Given the description of an element on the screen output the (x, y) to click on. 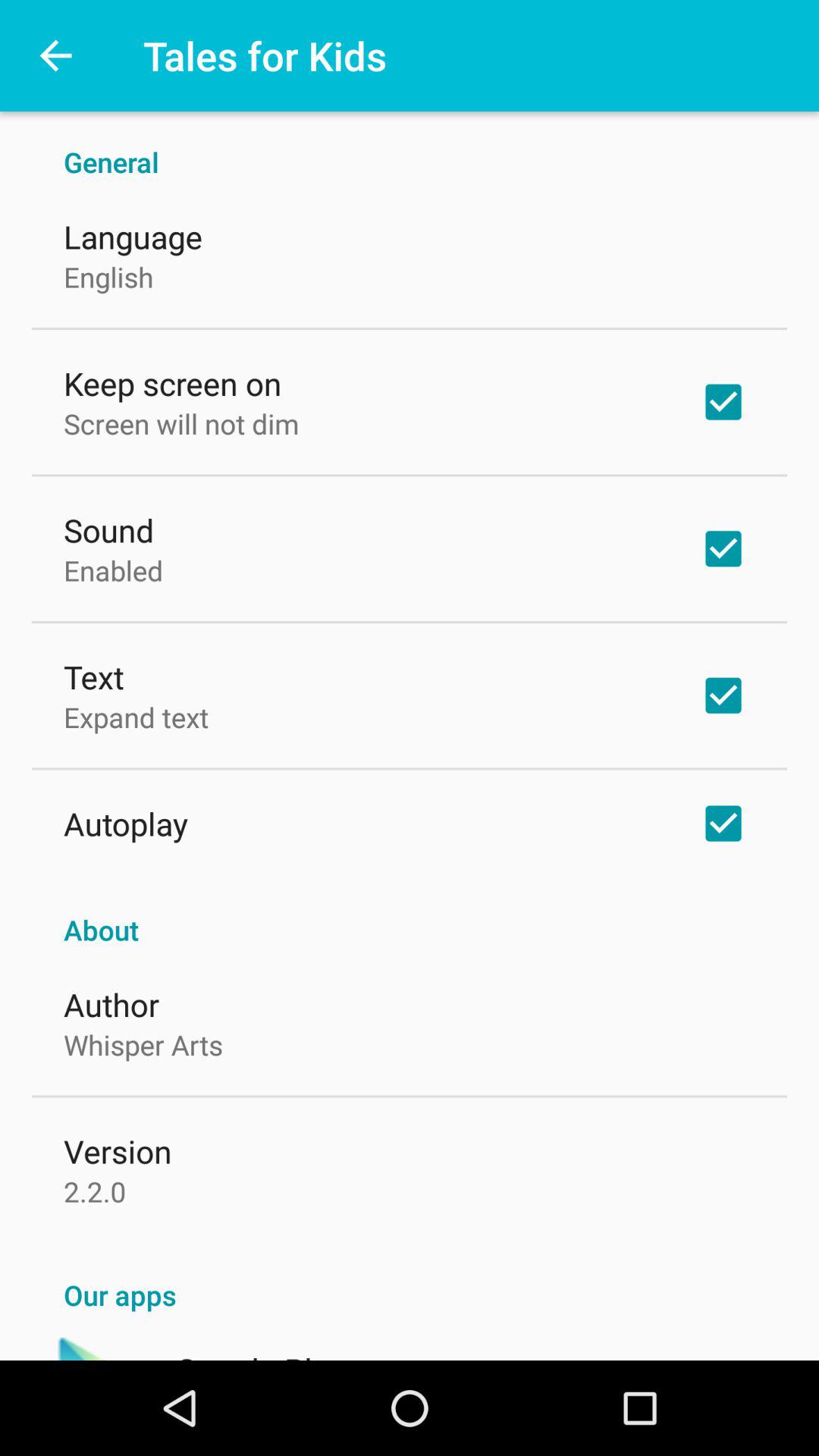
jump until whisper arts (142, 1044)
